Given the description of an element on the screen output the (x, y) to click on. 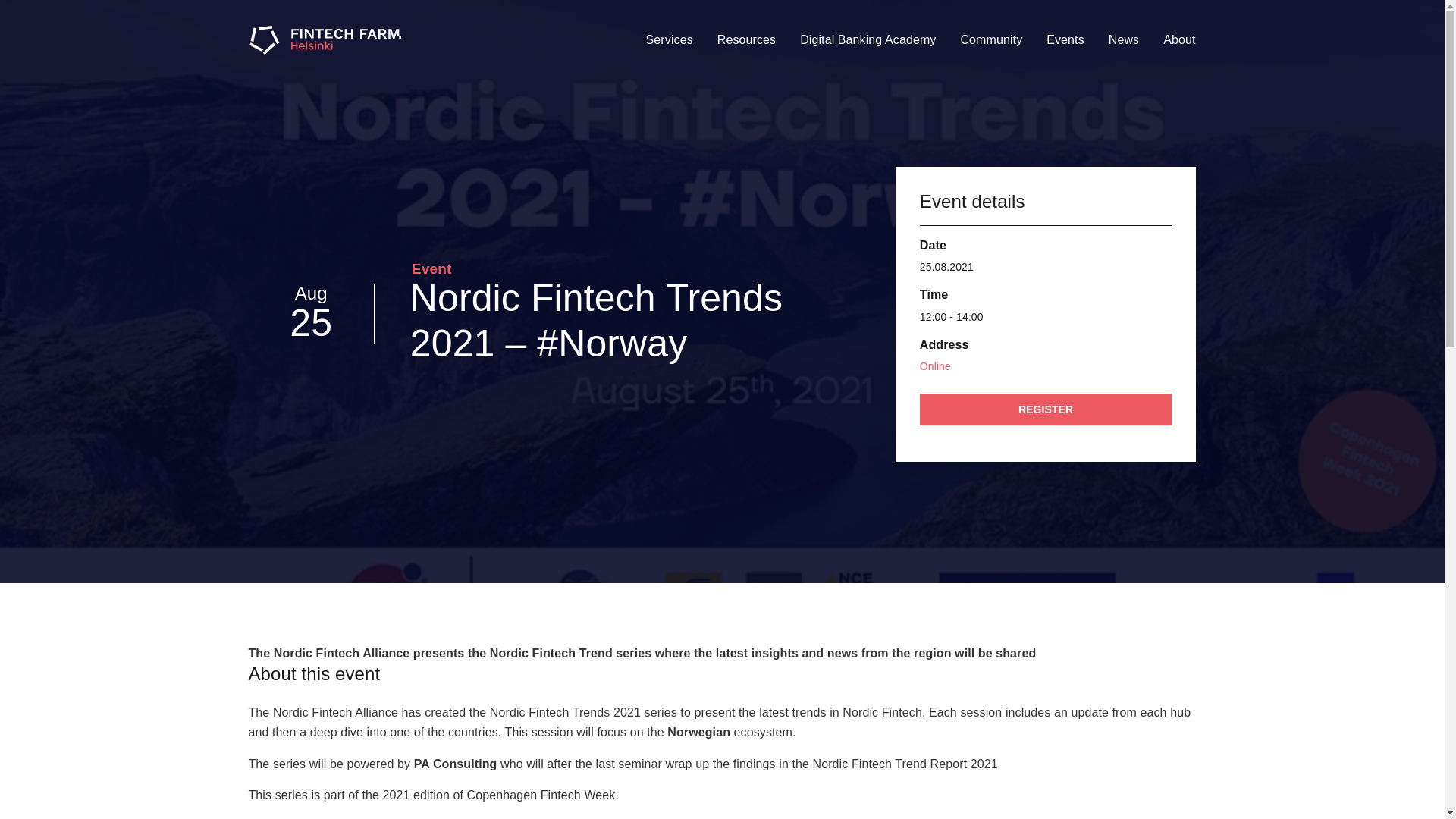
Resources (745, 40)
Community (990, 40)
Events (1064, 40)
REGISTER (1046, 409)
Digital Banking Academy (867, 40)
News (1123, 40)
Online (935, 366)
Services (668, 40)
About (1179, 40)
